Given the description of an element on the screen output the (x, y) to click on. 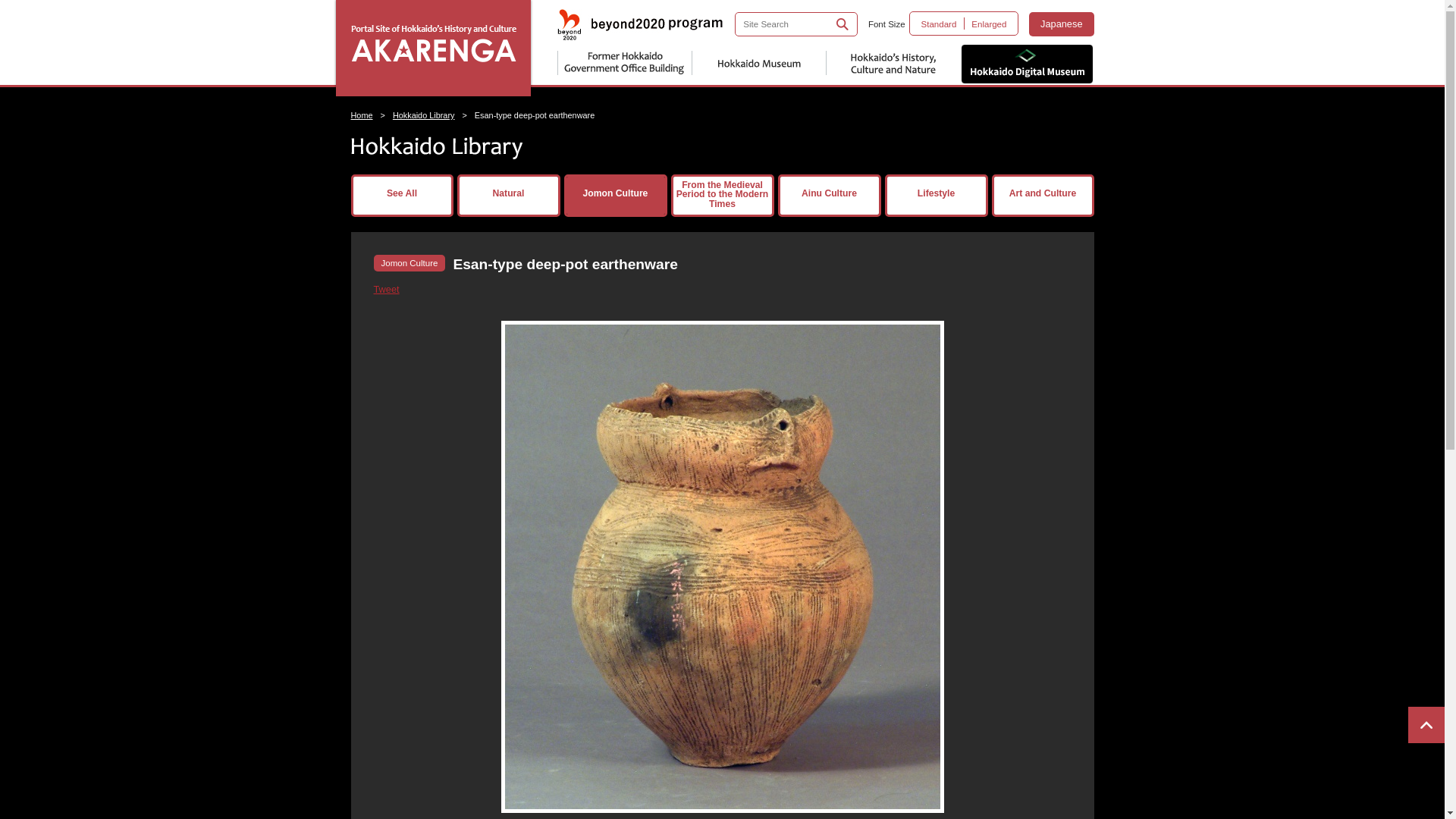
HOKKAIDO DIGITAL MUSEUM (1026, 64)
Jomon Culture (614, 195)
Hokkaido Library (423, 114)
Natural (508, 195)
Hokkaido Museum (758, 64)
From the Medieval Period to the Modern Times (721, 195)
See All (402, 195)
Art and Culture (1041, 195)
Japanese (1061, 24)
Tweet (385, 288)
Lifestyle (935, 195)
Ainu Culture (827, 195)
Former Hokkaido Government Office Building (623, 64)
Home (361, 114)
